Given the description of an element on the screen output the (x, y) to click on. 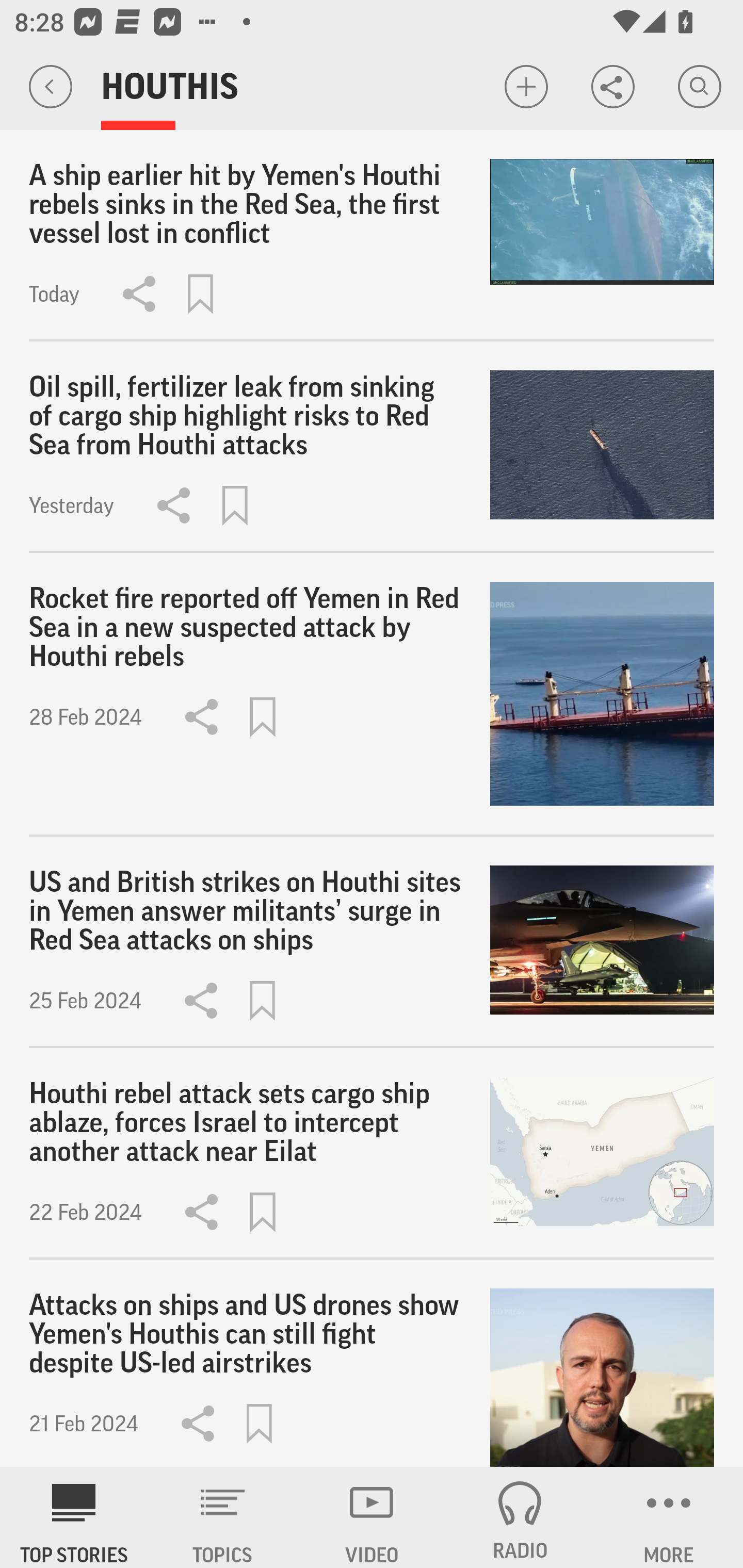
AP News TOP STORIES (74, 1517)
TOPICS (222, 1517)
VIDEO (371, 1517)
RADIO (519, 1517)
MORE (668, 1517)
